Given the description of an element on the screen output the (x, y) to click on. 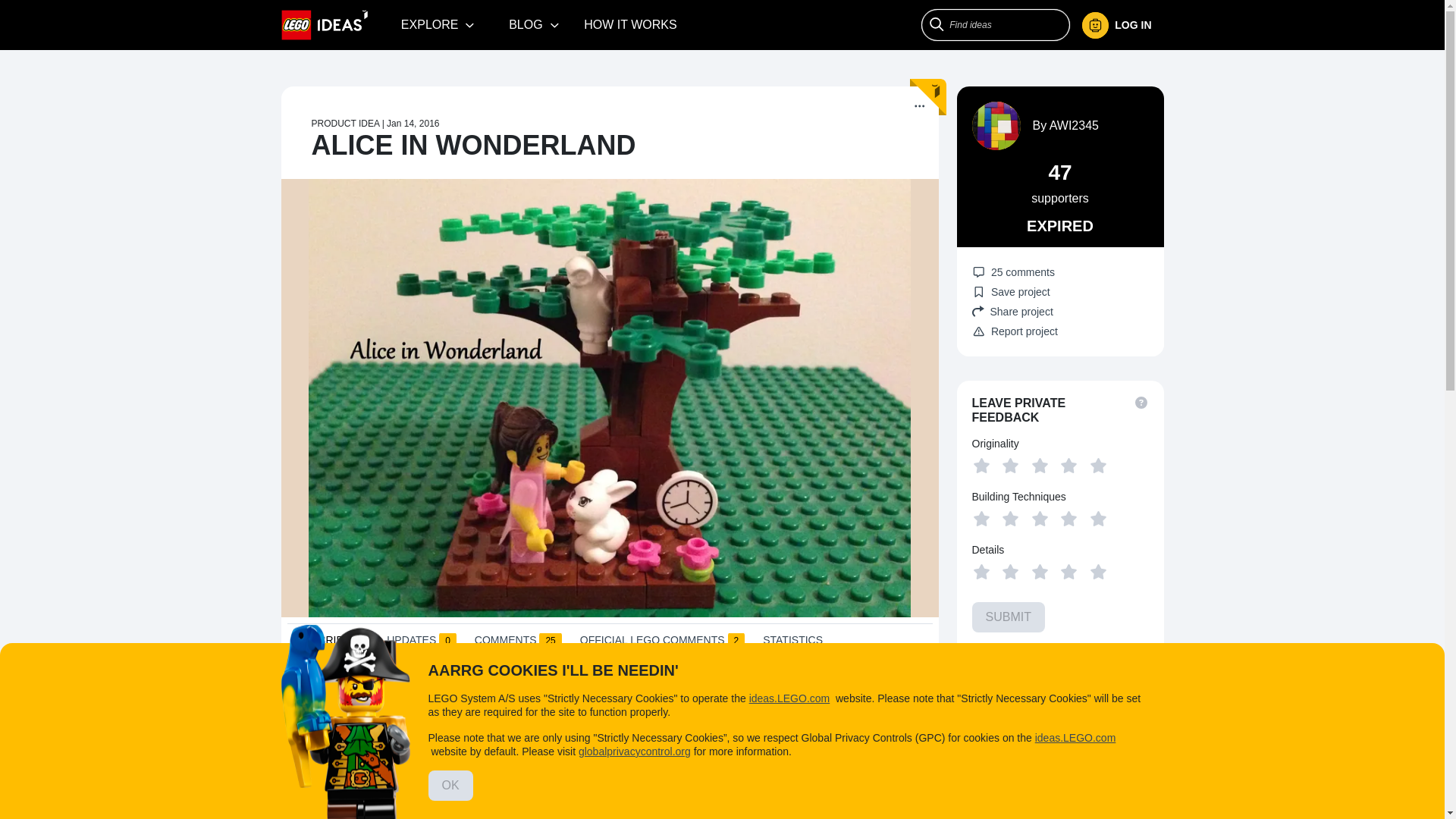
BLOG (534, 24)
DESCRIPTION (331, 644)
How It Works (630, 24)
2016-01-15T00:36:31Z (413, 122)
HOW IT WORKS (630, 24)
Save project (1010, 291)
UPDATES 0 (422, 643)
OFFICIAL LEGO COMMENTS 2 (661, 643)
EXPLORE (437, 24)
